Given the description of an element on the screen output the (x, y) to click on. 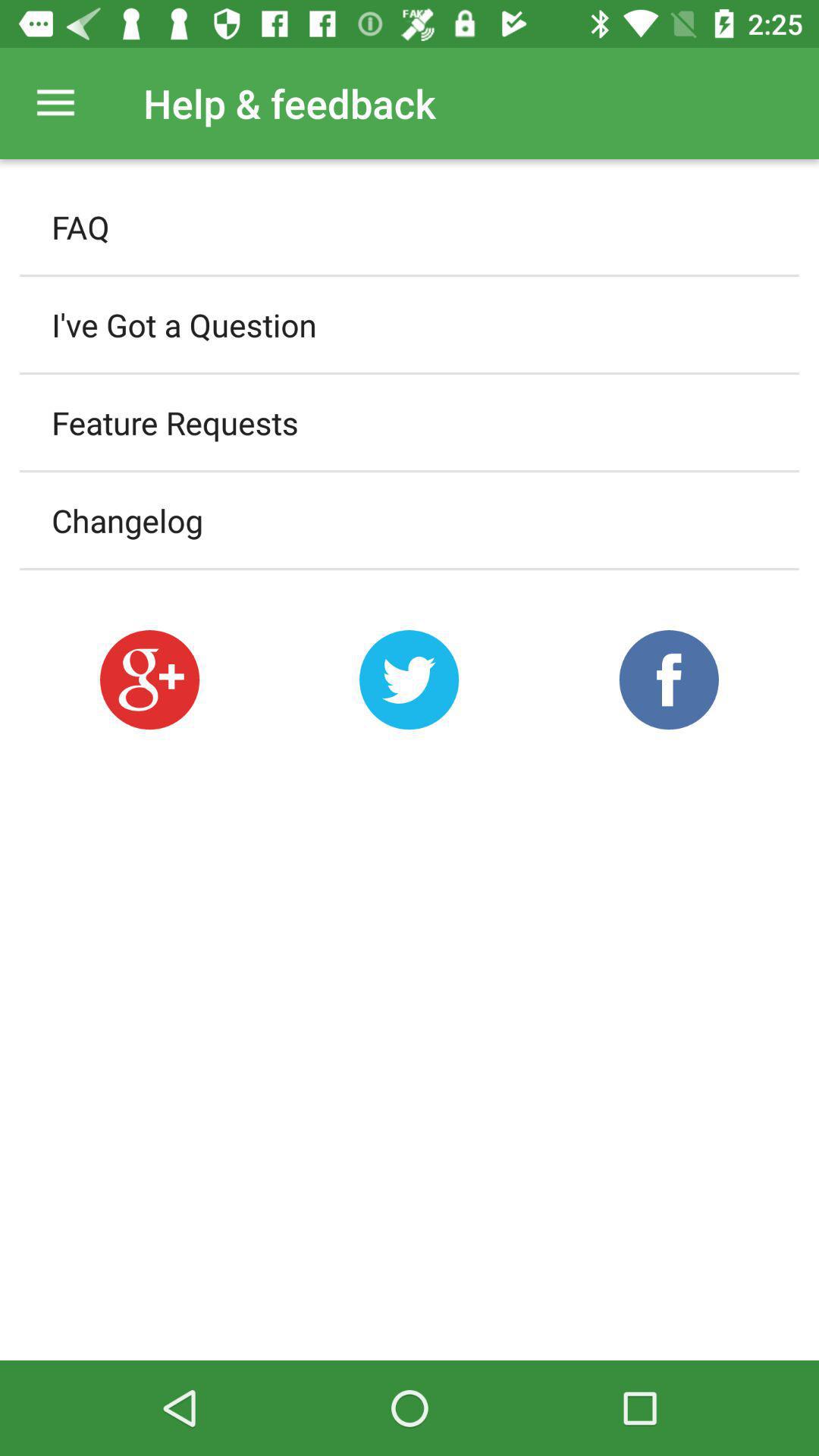
facebook (669, 679)
